Given the description of an element on the screen output the (x, y) to click on. 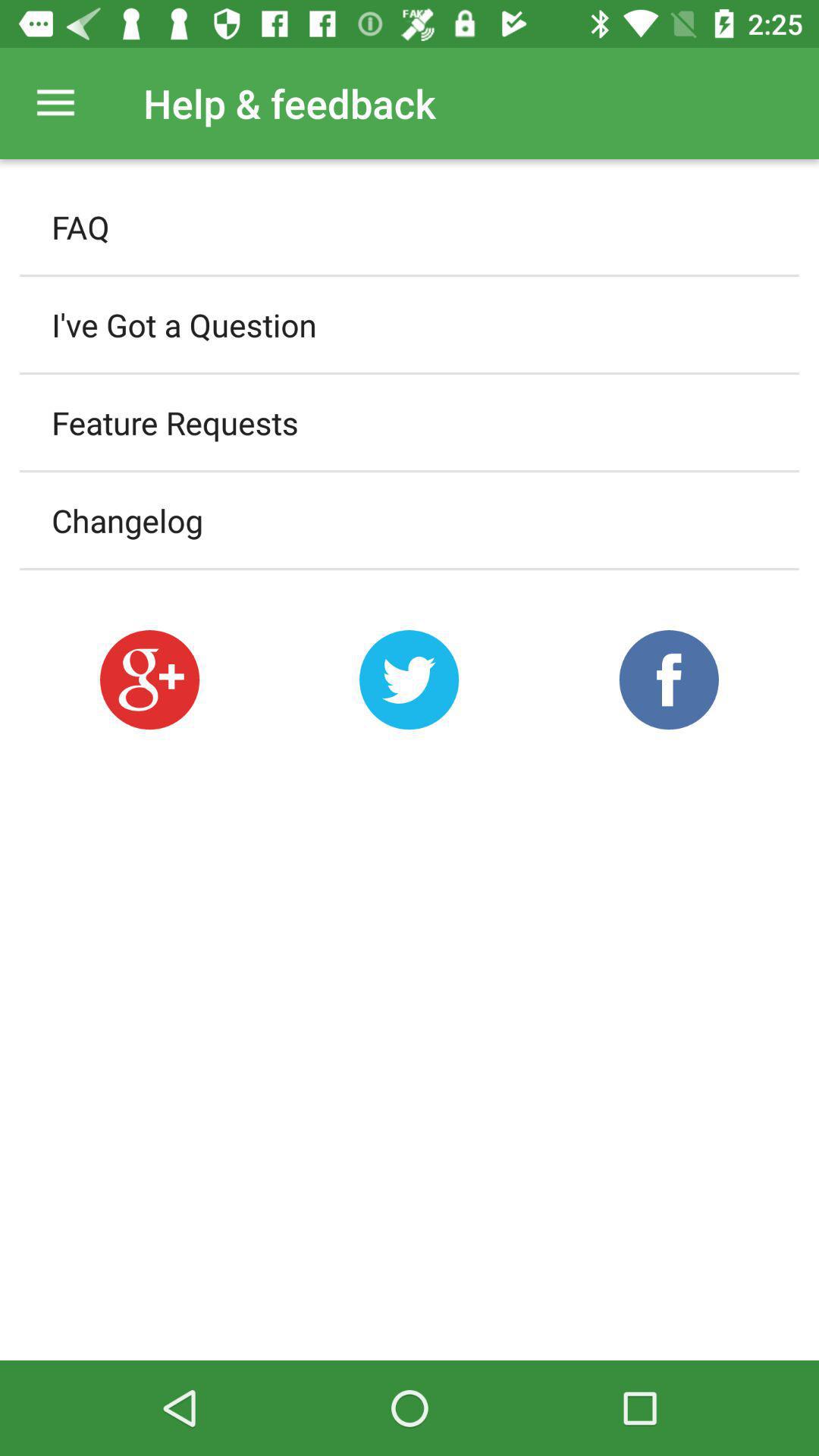
facebook (669, 679)
